Given the description of an element on the screen output the (x, y) to click on. 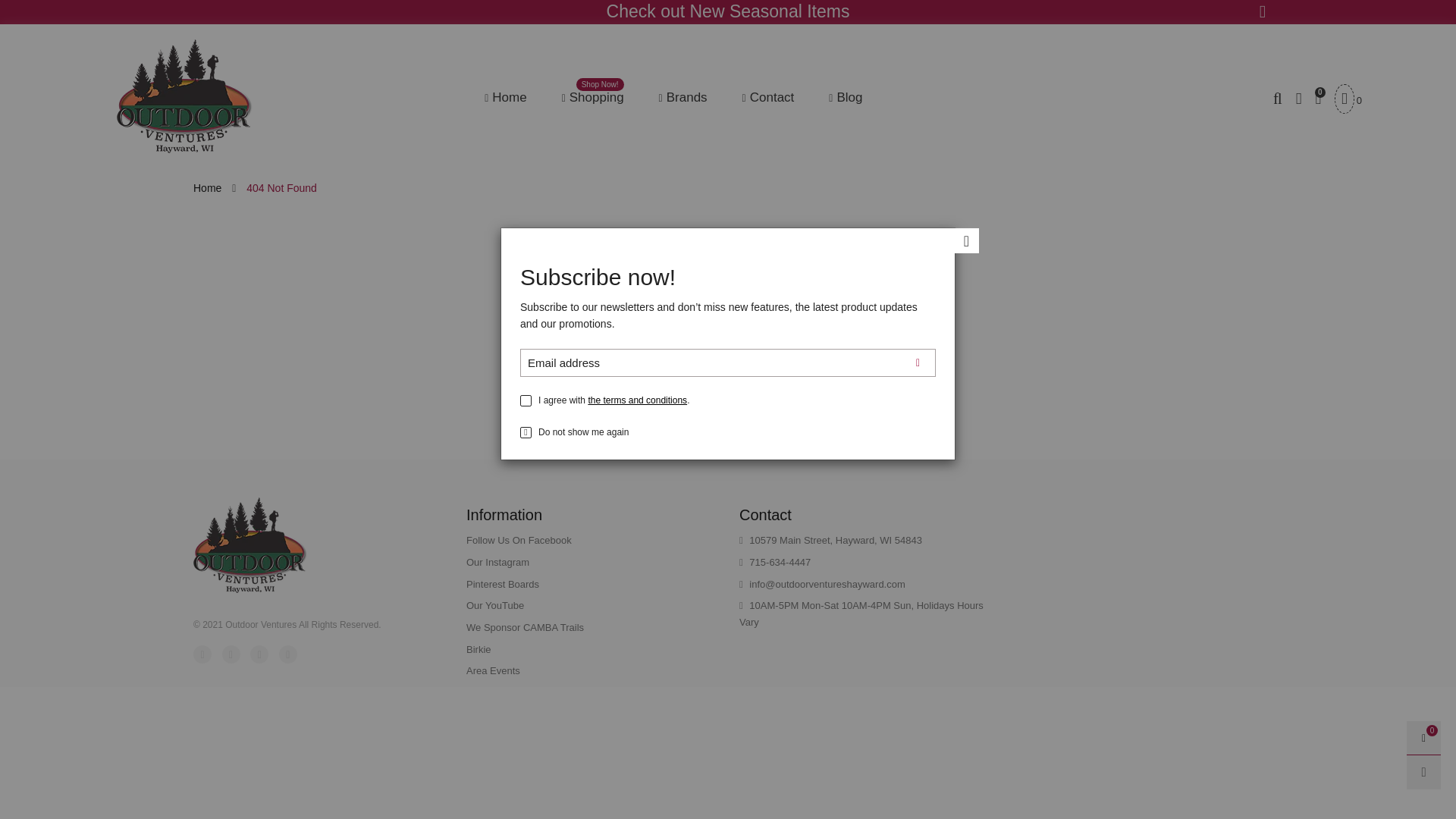
Outdoor Ventures (183, 96)
Home (504, 97)
Check out New Seasonal Items (728, 12)
Shopping (593, 97)
close promotion (1262, 12)
Brands (683, 97)
Home (593, 97)
